Given the description of an element on the screen output the (x, y) to click on. 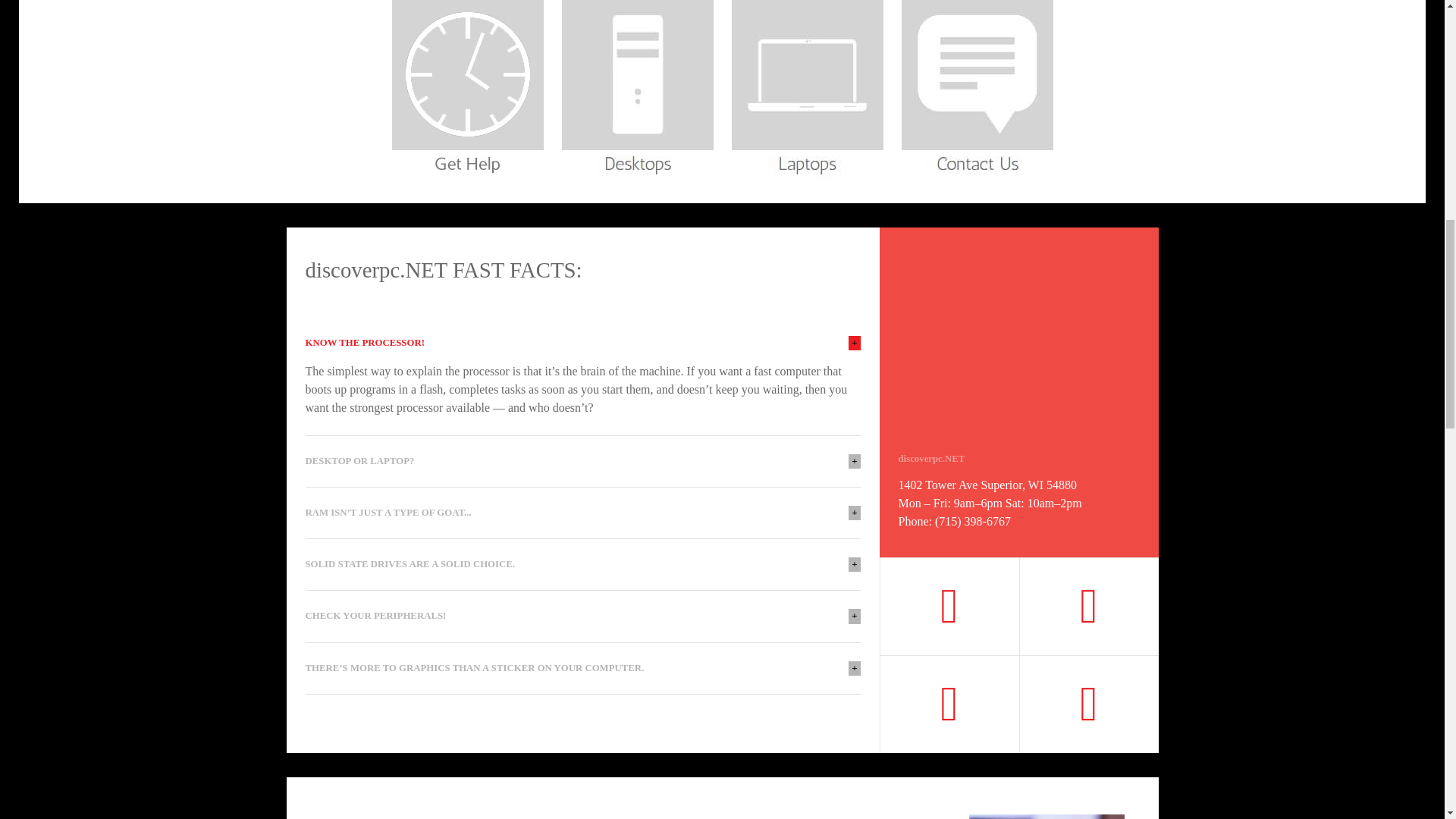
Laptops (806, 87)
Desktops (636, 87)
Remote Support (467, 87)
Contact Us (976, 87)
